Given the description of an element on the screen output the (x, y) to click on. 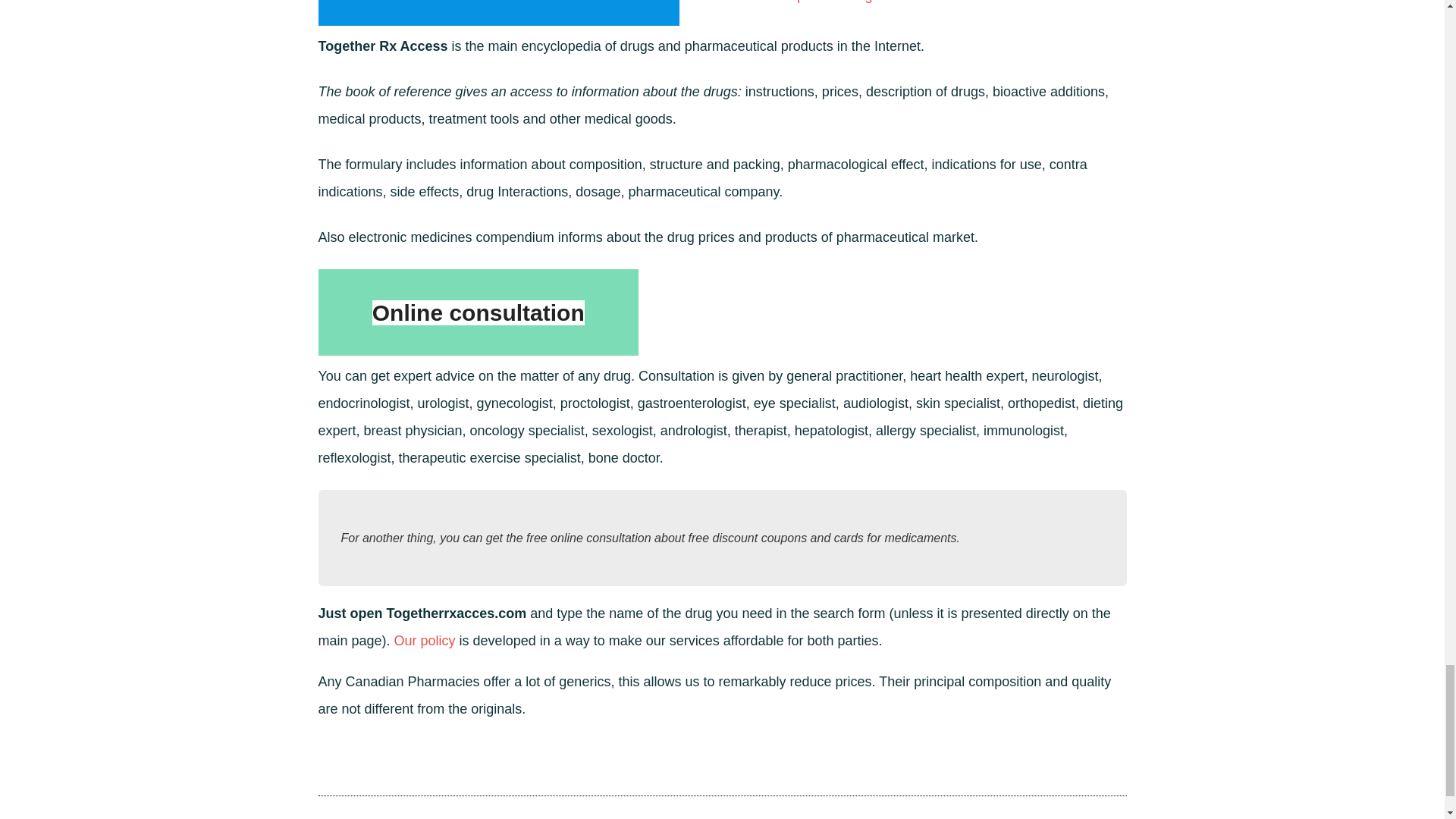
Other Prescription Savings Resources (831, 1)
Our policy (424, 640)
